Given the description of an element on the screen output the (x, y) to click on. 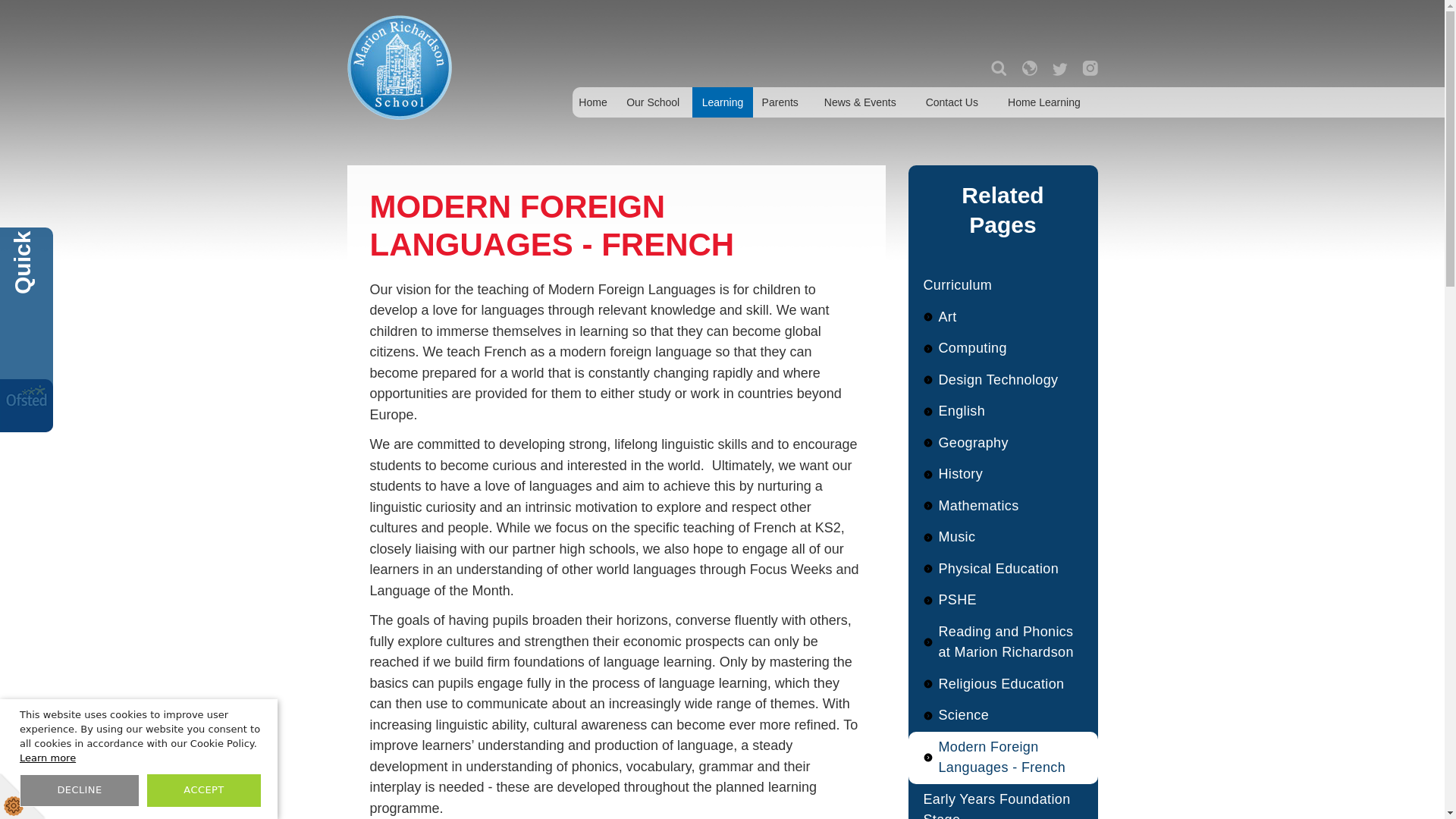
Our School (653, 101)
Search site (998, 68)
Search site (998, 68)
Learning (722, 101)
Home (592, 101)
